Given the description of an element on the screen output the (x, y) to click on. 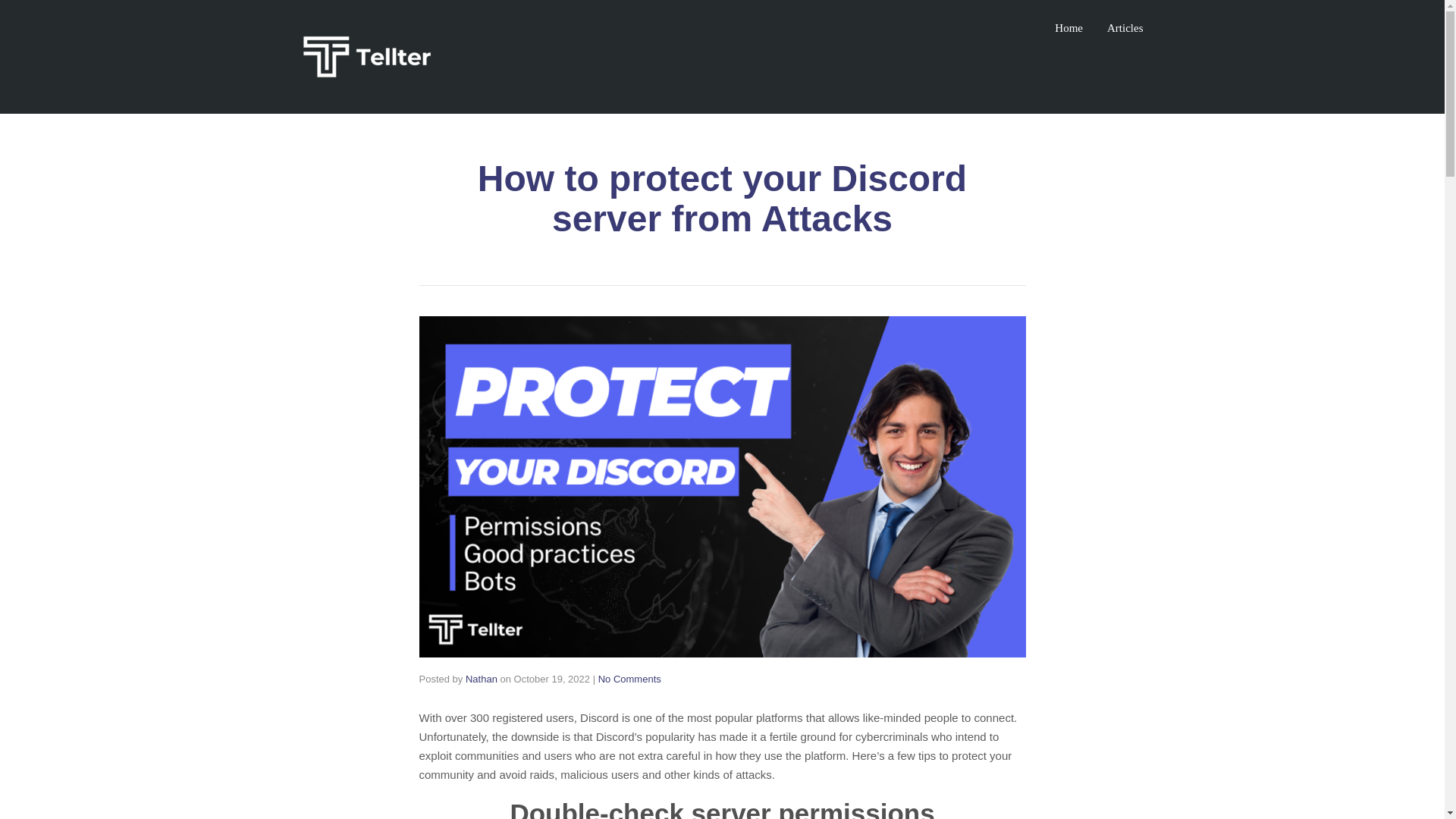
No Comments (629, 678)
Articles (1124, 27)
Nathan (481, 678)
Posts by Nathan (481, 678)
